Given the description of an element on the screen output the (x, y) to click on. 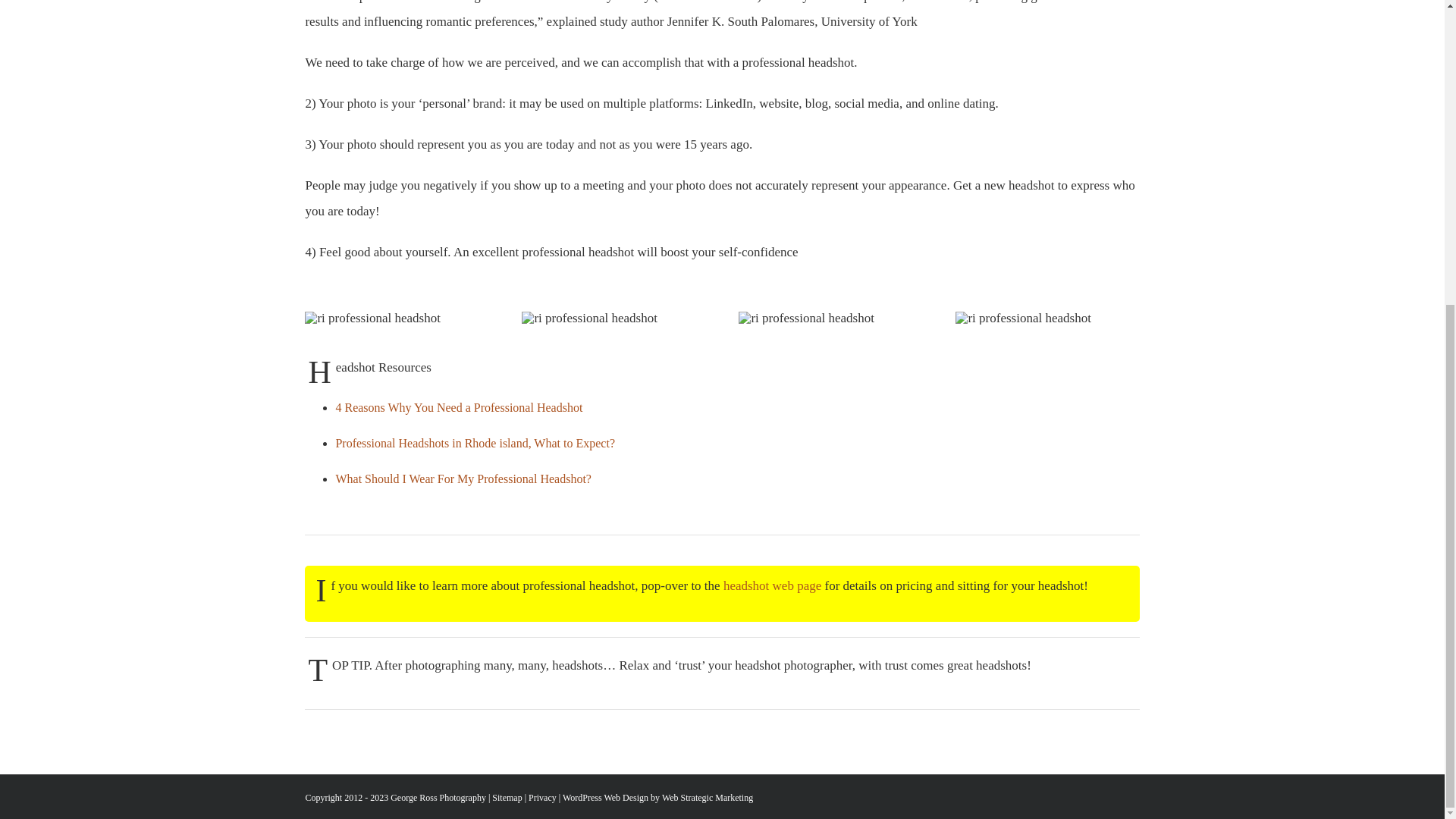
ri professional headshot of a woman wearing glasses (371, 318)
ri professional headshot-4 (1022, 318)
ri professional headshot-2 (588, 318)
ri professional headshot of a woman in a blue jacket (805, 318)
